Given the description of an element on the screen output the (x, y) to click on. 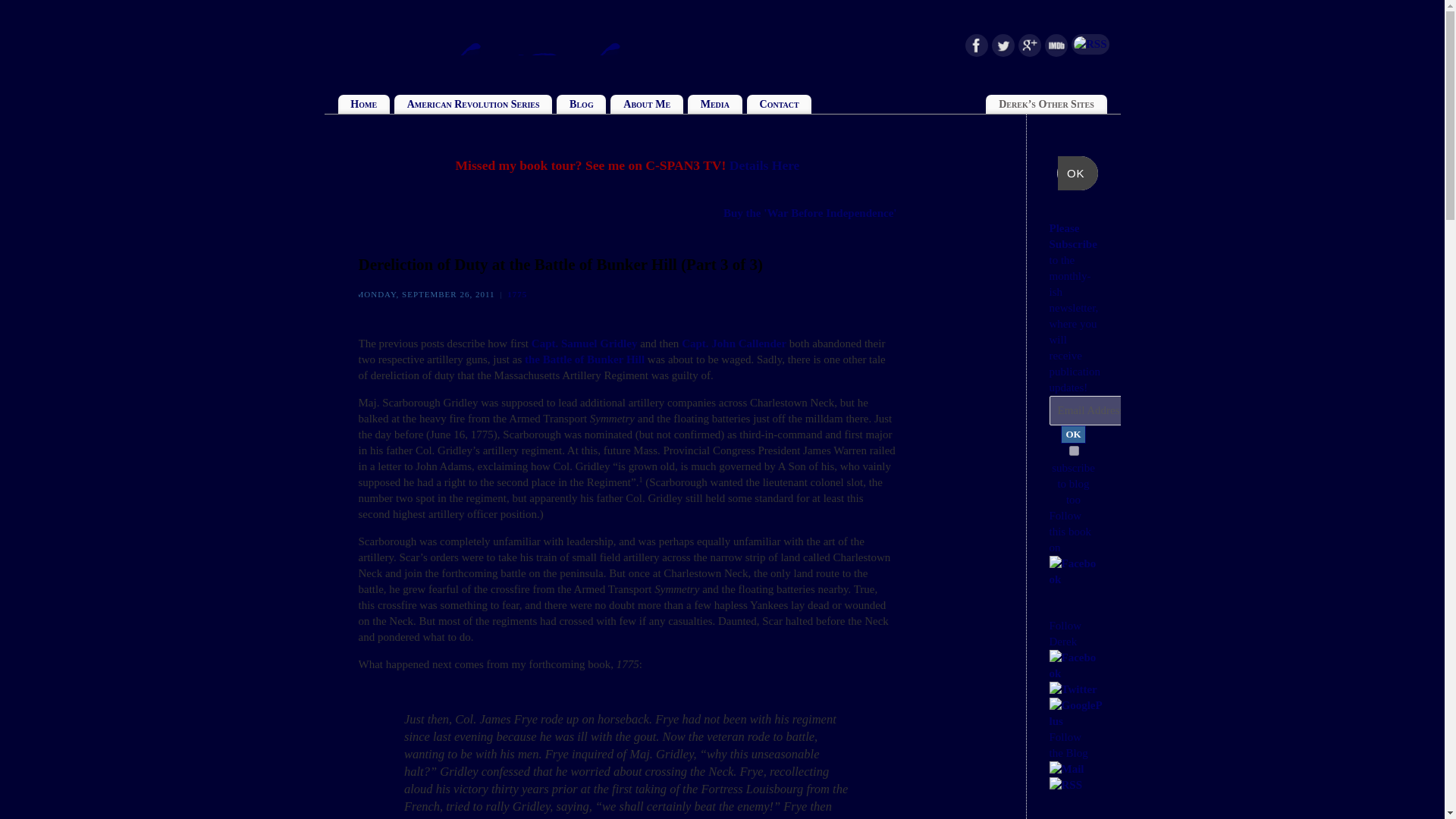
Details Here (764, 165)
American Revolution Series (472, 104)
About Me (646, 104)
Media (714, 104)
Capt. Samuel Gridley (584, 343)
15:00 (426, 293)
RSS (1090, 44)
Email Address (1129, 410)
2 (1073, 450)
Buy the 'War Before Independence' (809, 213)
